Given the description of an element on the screen output the (x, y) to click on. 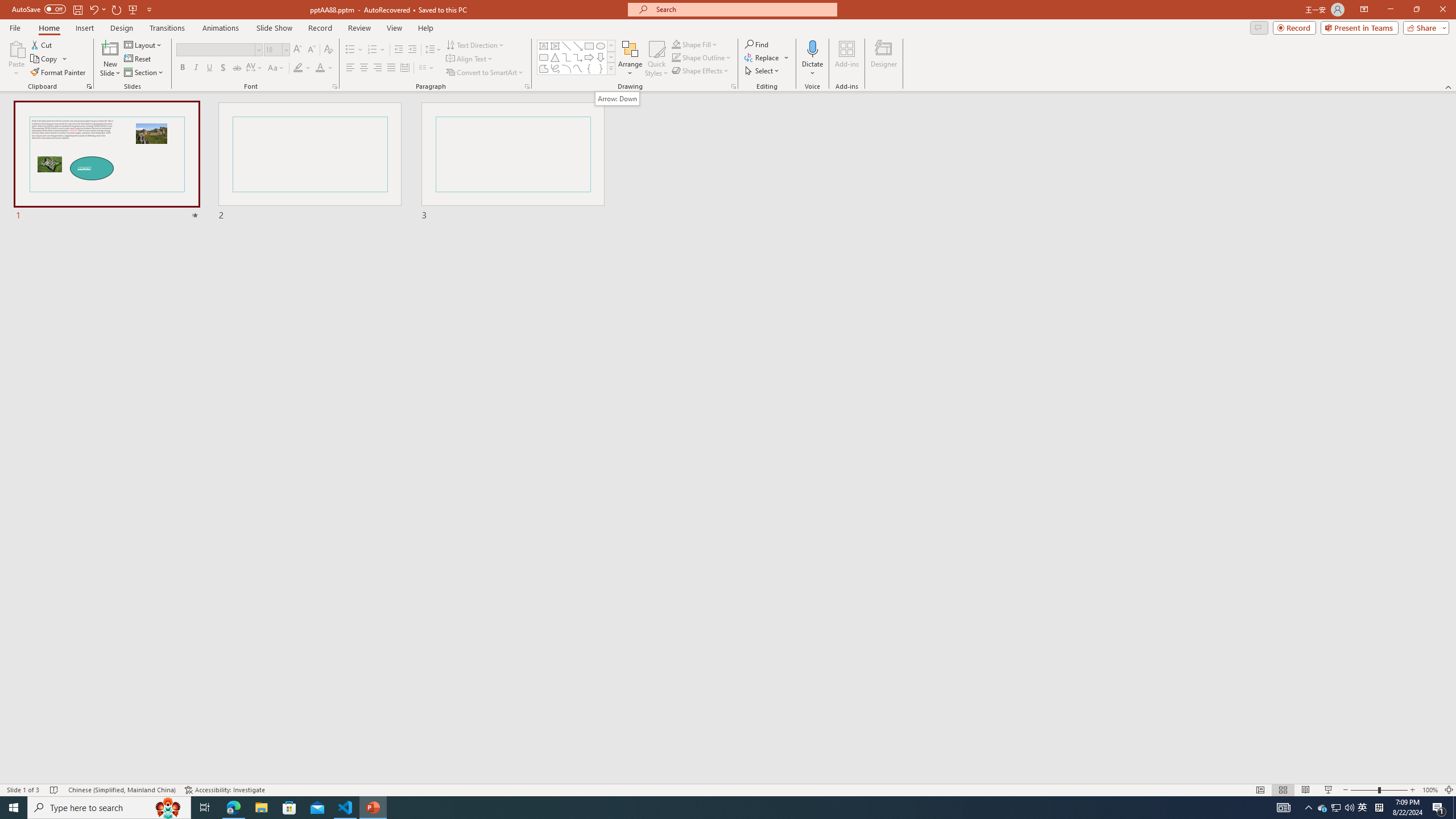
Right Brace (600, 68)
Strikethrough (237, 67)
Text Highlight Color Yellow (297, 67)
Microsoft search (742, 9)
Convert to SmartArt (485, 72)
Text Box (543, 45)
Increase Font Size (297, 49)
Class: MsoCommandBar (728, 789)
Select (762, 69)
Designer (883, 58)
